Given the description of an element on the screen output the (x, y) to click on. 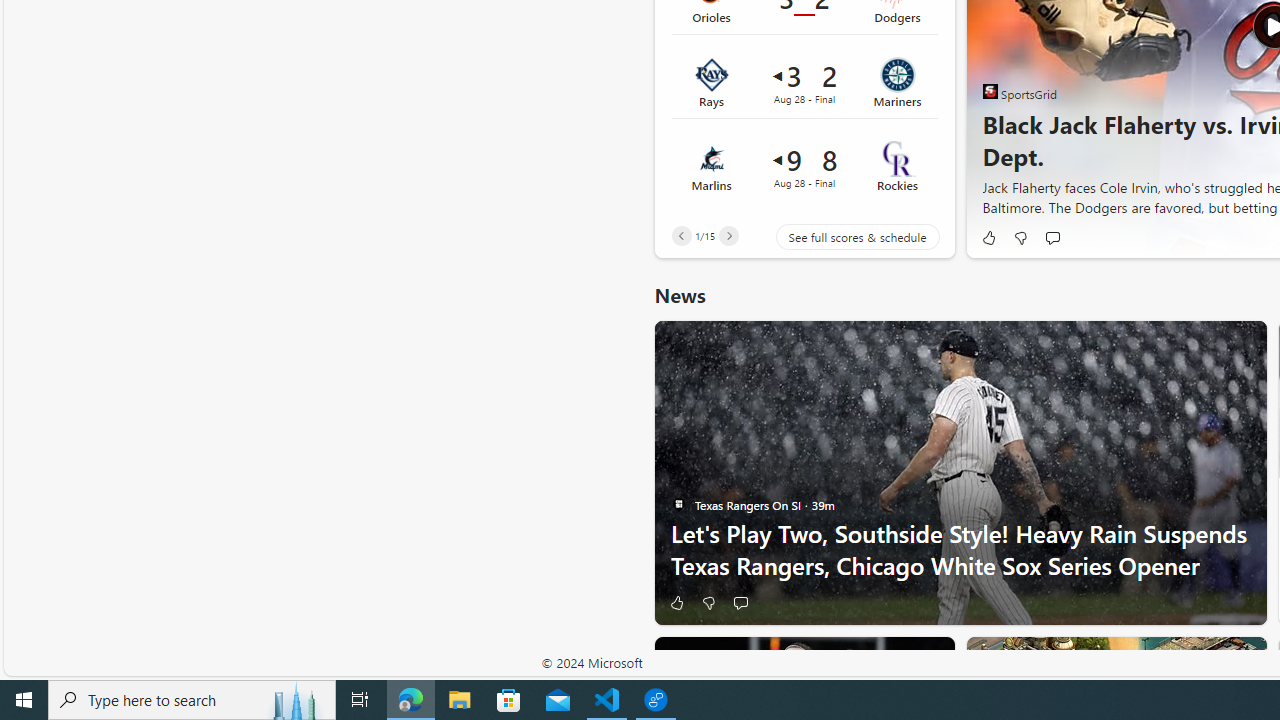
Hide this story (894, 659)
SportsGrid (989, 91)
See full scores & schedule (842, 236)
Dislike (708, 601)
Class: around-the-league-card (804, 166)
Like (676, 601)
See more (930, 659)
Previous (681, 236)
Marlins 9 vs Rockies 8Final Date Aug 28 (804, 166)
Start the conversation (740, 601)
Rays 3 vs Mariners 2Final Date Aug 28 (804, 83)
Start the conversation (740, 602)
Next (728, 236)
